Given the description of an element on the screen output the (x, y) to click on. 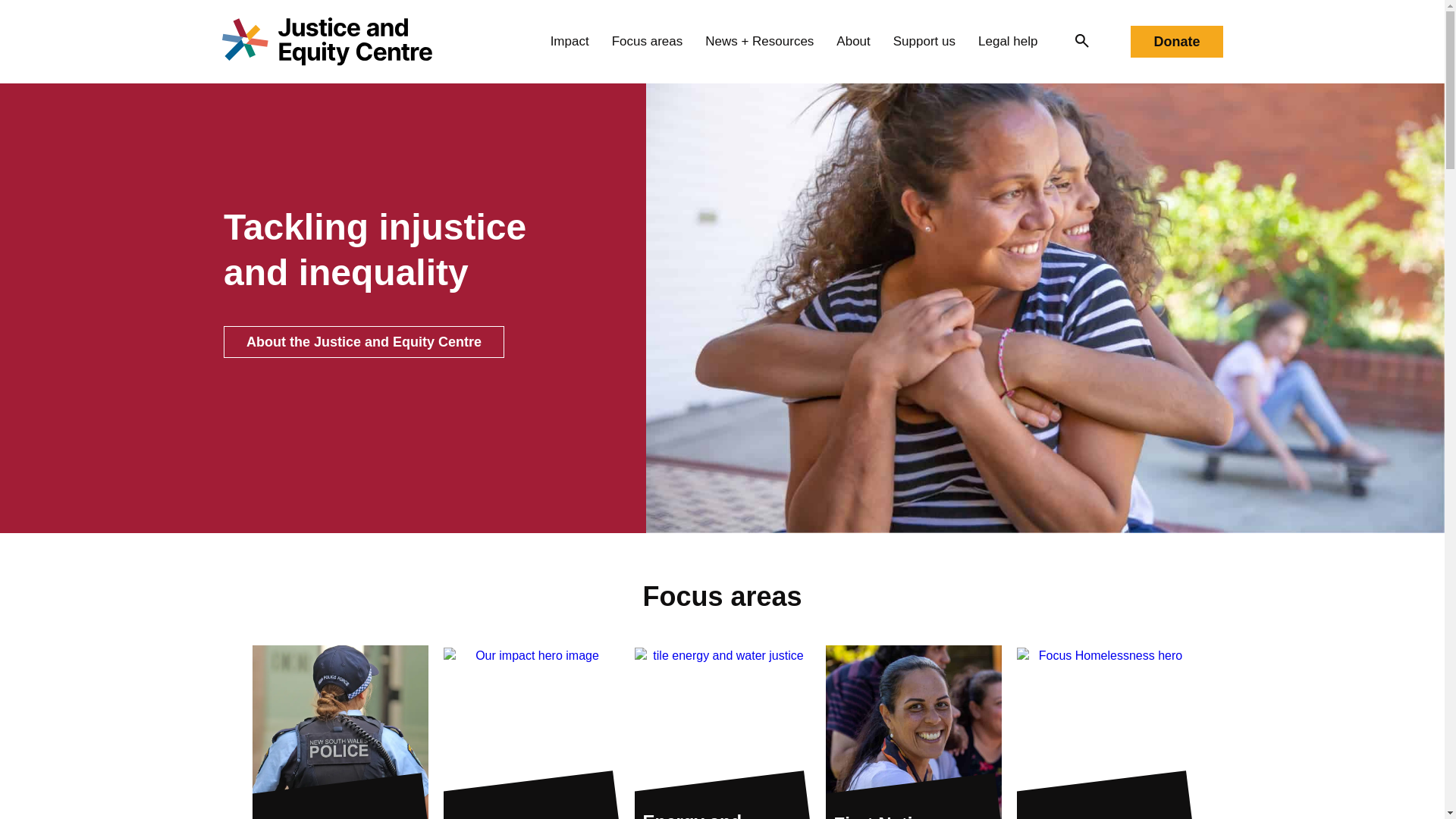
Home 6 (913, 732)
Home 4 (530, 733)
Home 3 (339, 732)
Focus areas (646, 41)
About (852, 41)
Impact (569, 41)
Home 5 (721, 733)
Home 7 (1104, 733)
